Given the description of an element on the screen output the (x, y) to click on. 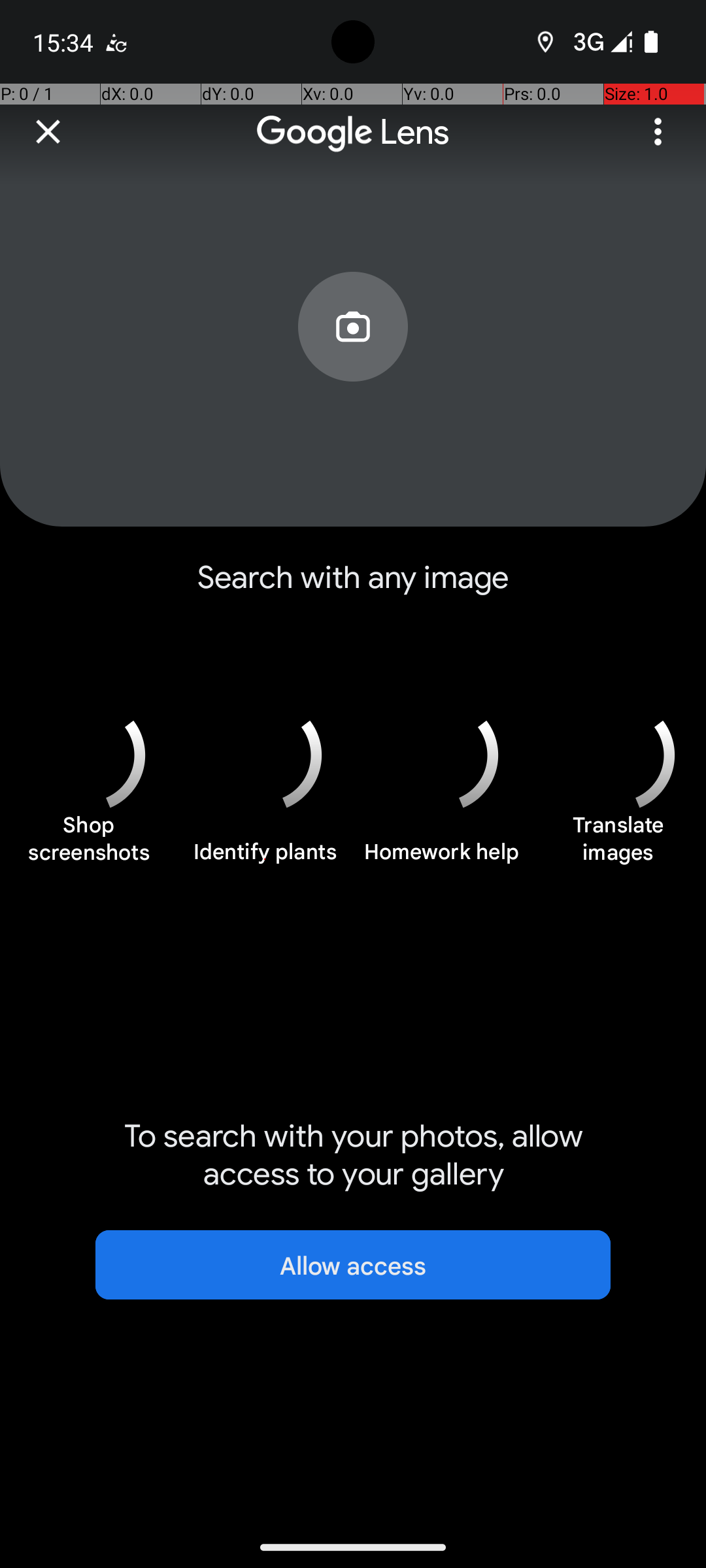
Search with your camera Element type: android.widget.FrameLayout (353, 356)
Search with any image Element type: android.widget.TextView (353, 587)
Shop screenshots Element type: android.widget.TextView (88, 845)
Identify plants Element type: android.widget.TextView (264, 858)
Homework help Element type: android.widget.TextView (441, 858)
Translate images Element type: android.widget.TextView (617, 845)
To search with your photos, allow access to your gallery Element type: android.widget.TextView (352, 1154)
Allow access Element type: android.widget.Button (352, 1264)
